Given the description of an element on the screen output the (x, y) to click on. 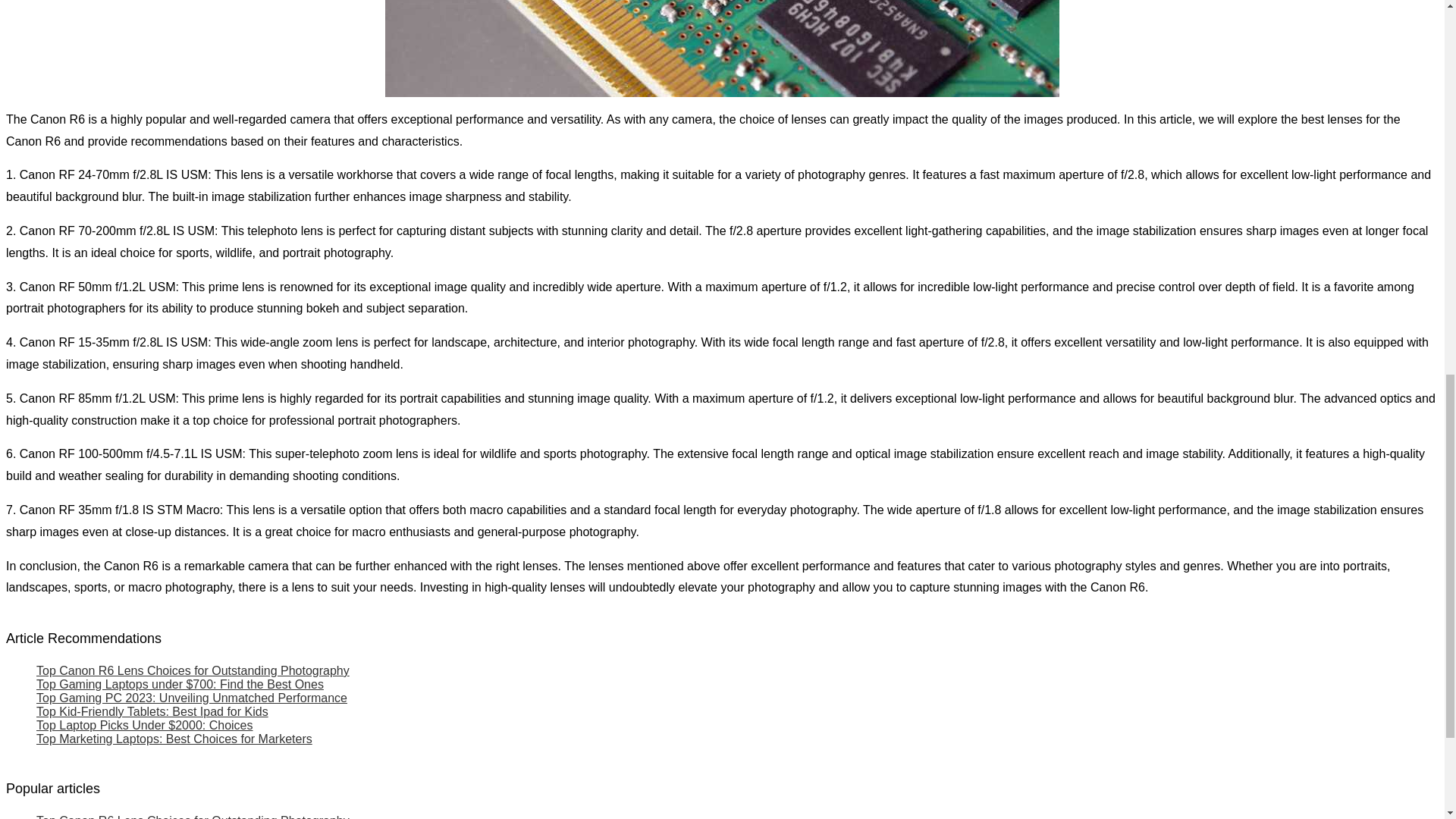
Top Kid-Friendly Tablets: Best Ipad for Kids (151, 711)
Top Canon R6 Lens Choices for Outstanding Photography (192, 670)
Top Marketing Laptops: Best Choices for Marketers (174, 738)
Top Gaming PC 2023: Unveiling Unmatched Performance (191, 697)
Top Canon R6 Lens Choices for Outstanding Photography (192, 816)
